Given the description of an element on the screen output the (x, y) to click on. 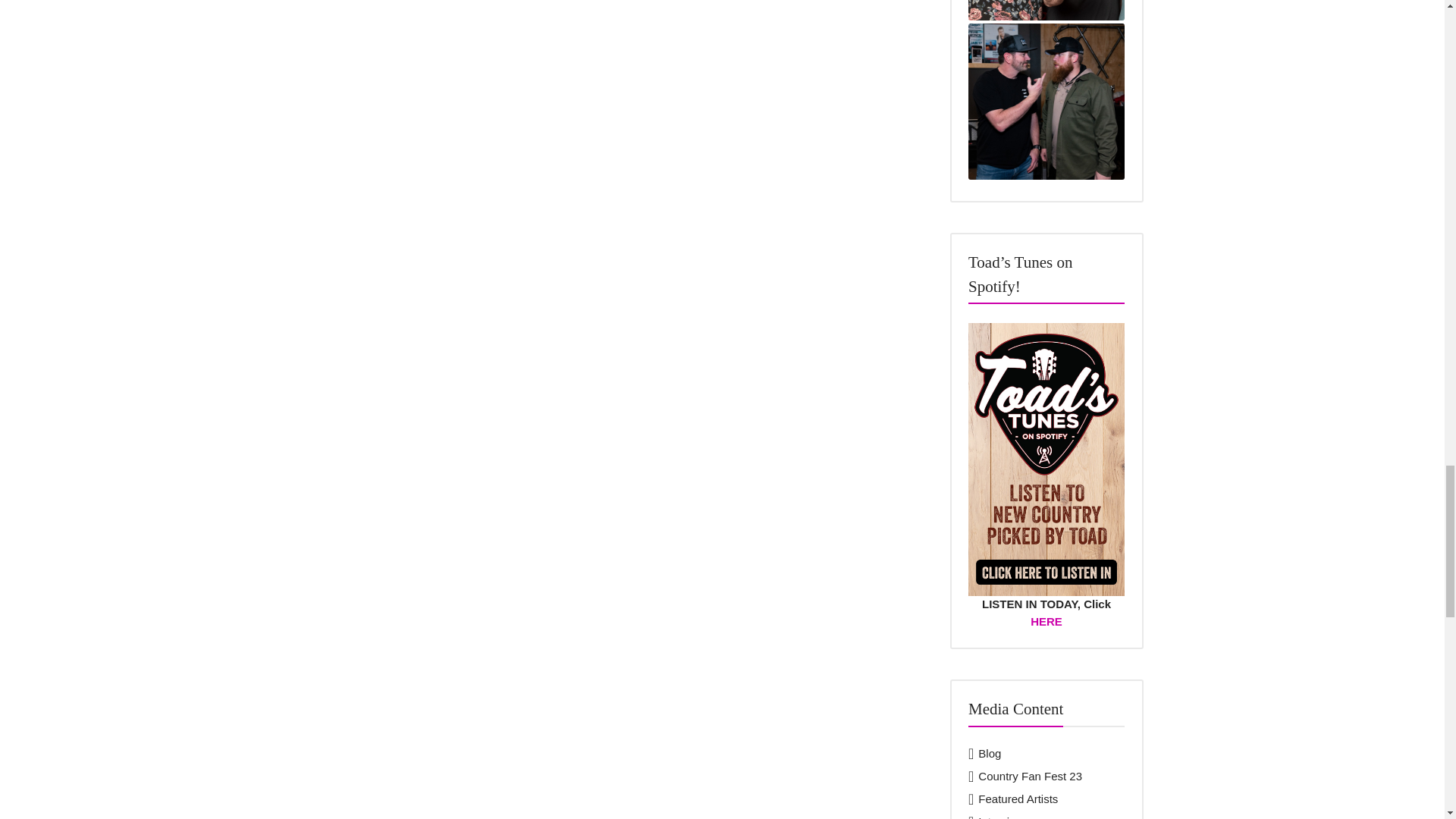
Country Fan Fest 23 (1029, 775)
Interviews (1003, 816)
Blog (989, 753)
Featured Artists (1018, 798)
HERE (1046, 621)
